Given the description of an element on the screen output the (x, y) to click on. 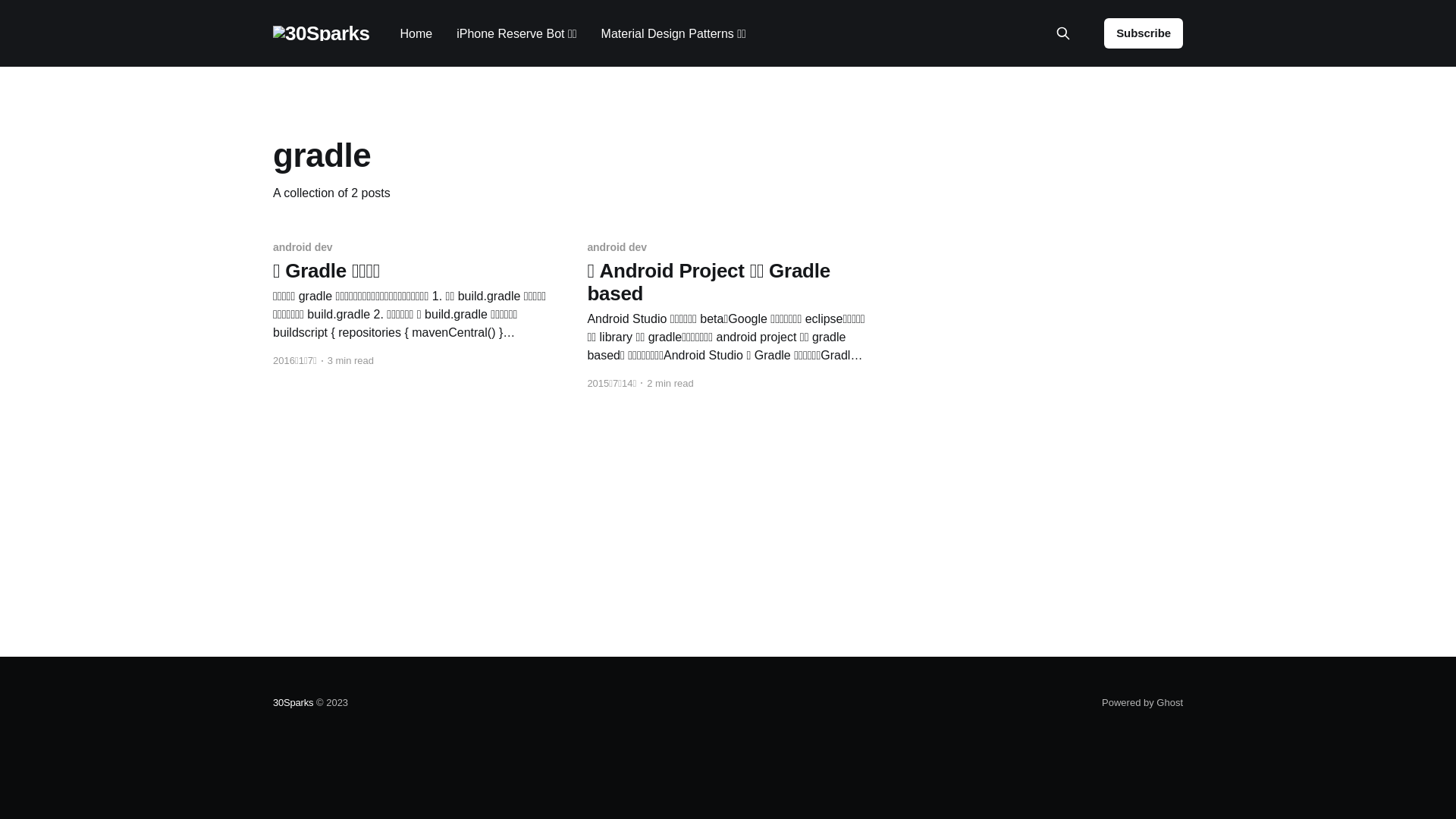
Subscribe Element type: text (1143, 33)
Powered by Ghost Element type: text (1142, 702)
30Sparks Element type: text (293, 702)
Home Element type: text (415, 33)
